Given the description of an element on the screen output the (x, y) to click on. 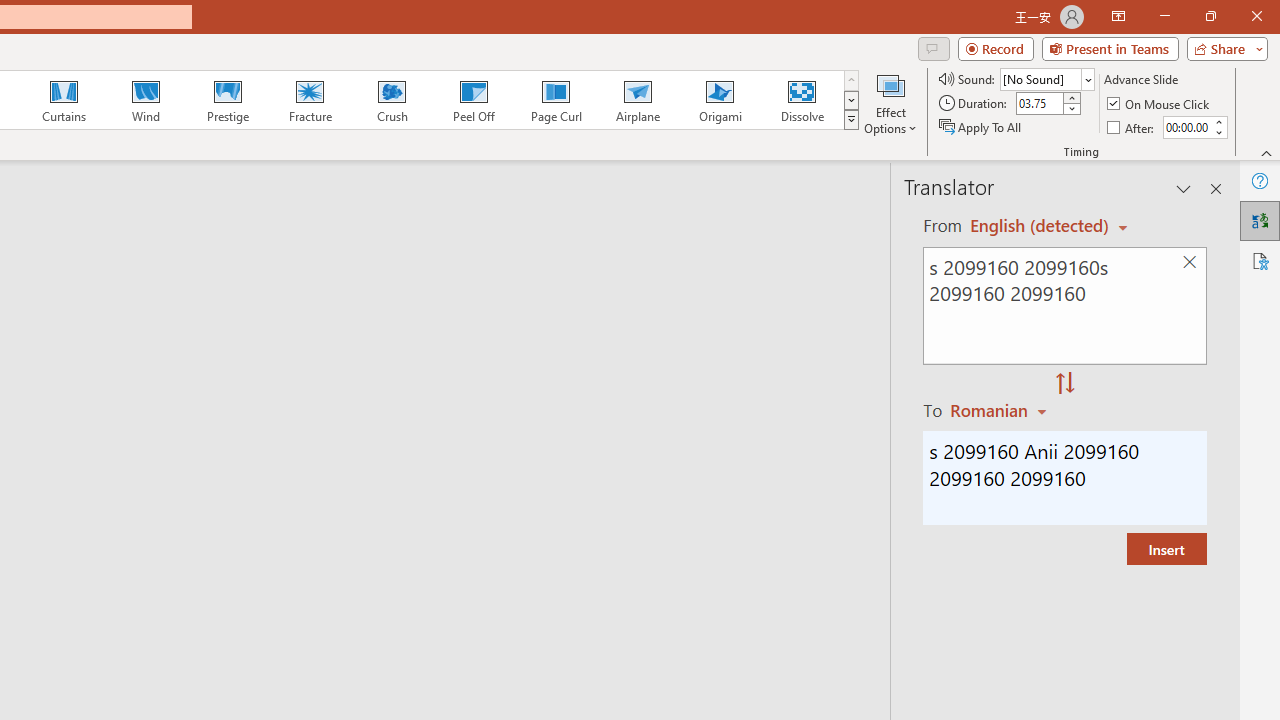
Romanian (1001, 409)
